Given the description of an element on the screen output the (x, y) to click on. 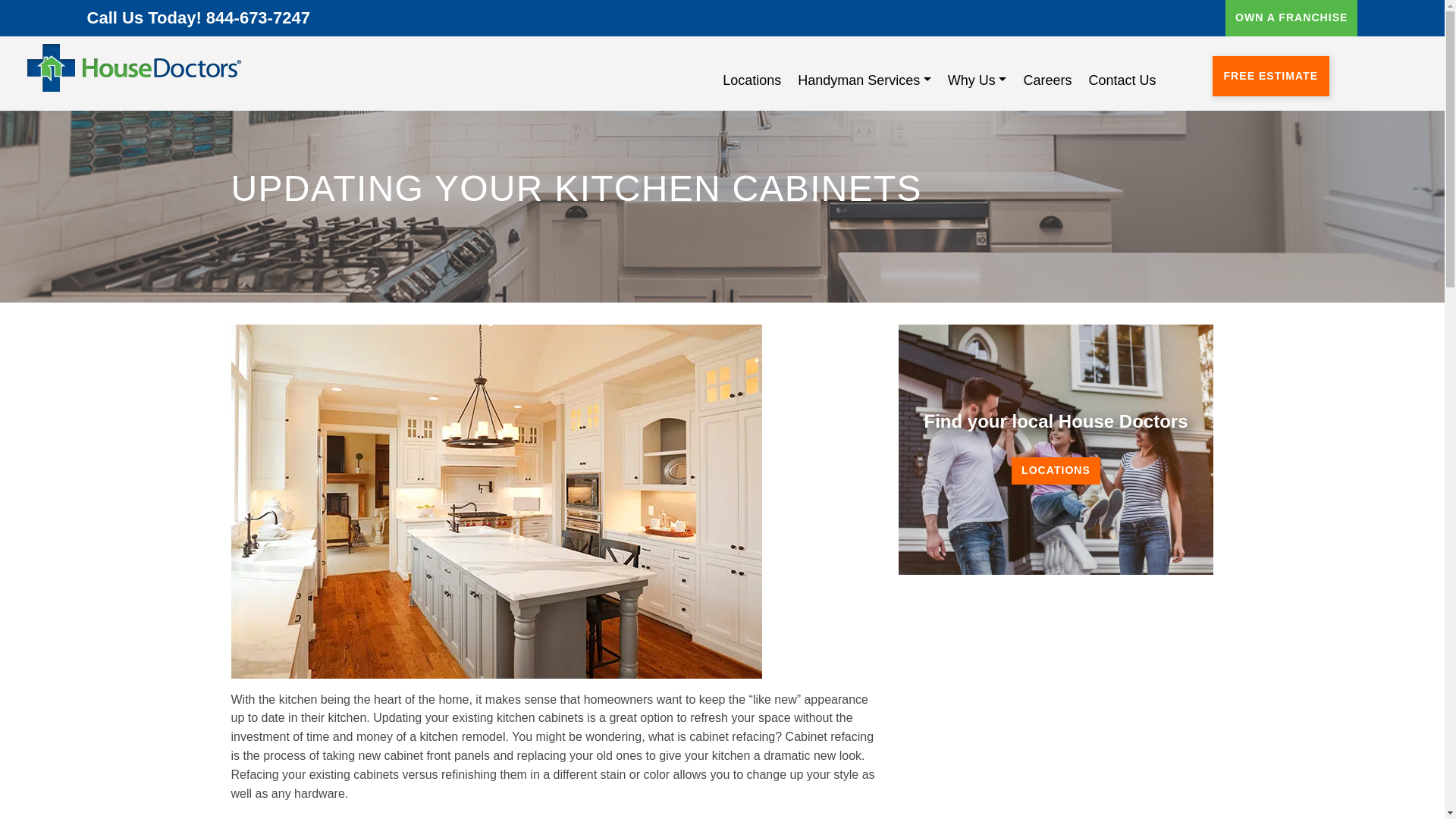
Why Us (977, 80)
Handyman Services (864, 80)
Locations (751, 80)
OWN A FRANCHISE (1290, 18)
844-673-7247 (258, 17)
OWN A FRANCHISE (1290, 17)
